Given the description of an element on the screen output the (x, y) to click on. 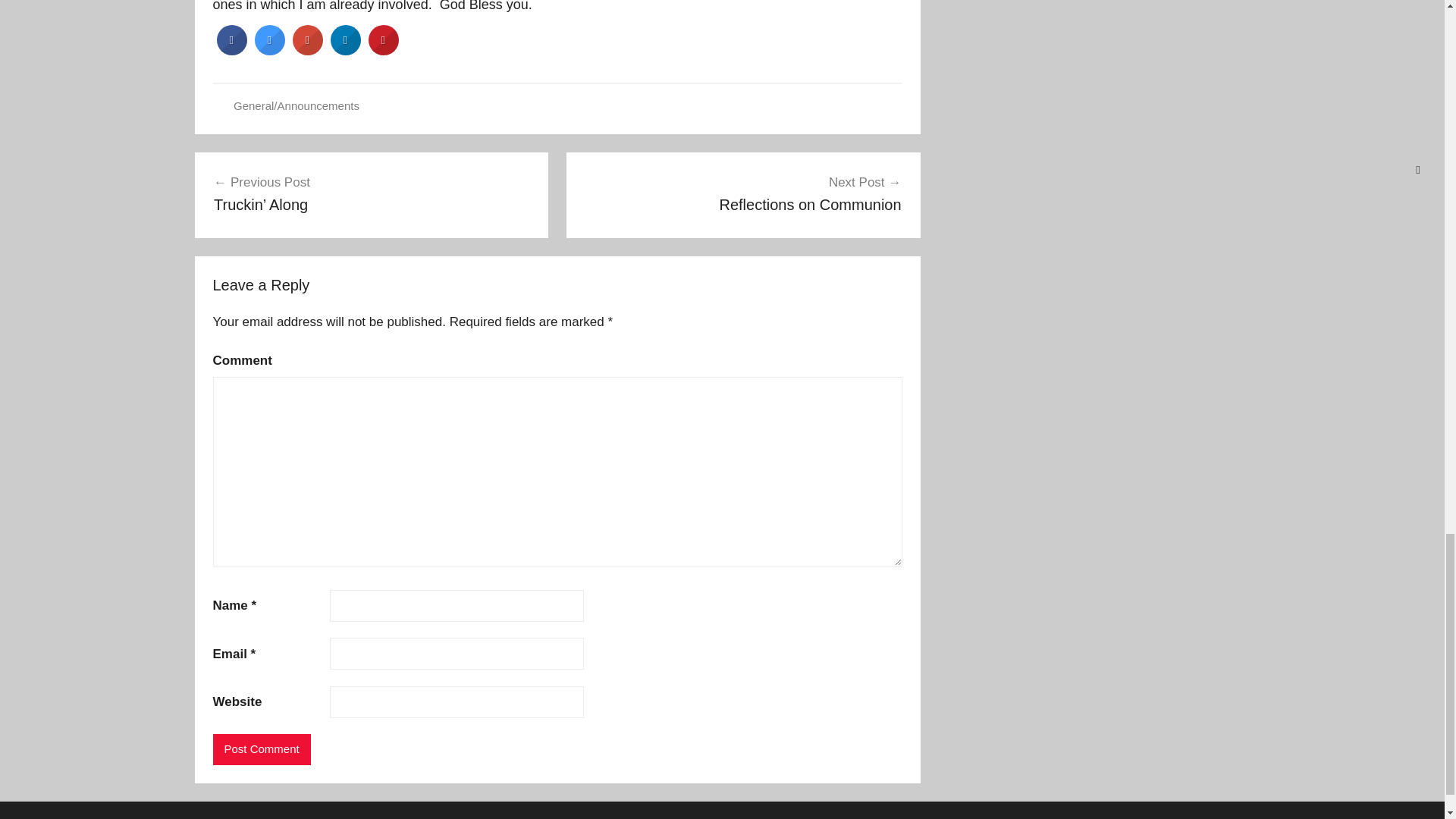
Share to Twitter (269, 51)
Post Comment (261, 748)
Share to Pinterest (383, 51)
Share to Google Plus (307, 51)
Share to Facebook (231, 51)
Share to LinkedIn (345, 51)
